Given the description of an element on the screen output the (x, y) to click on. 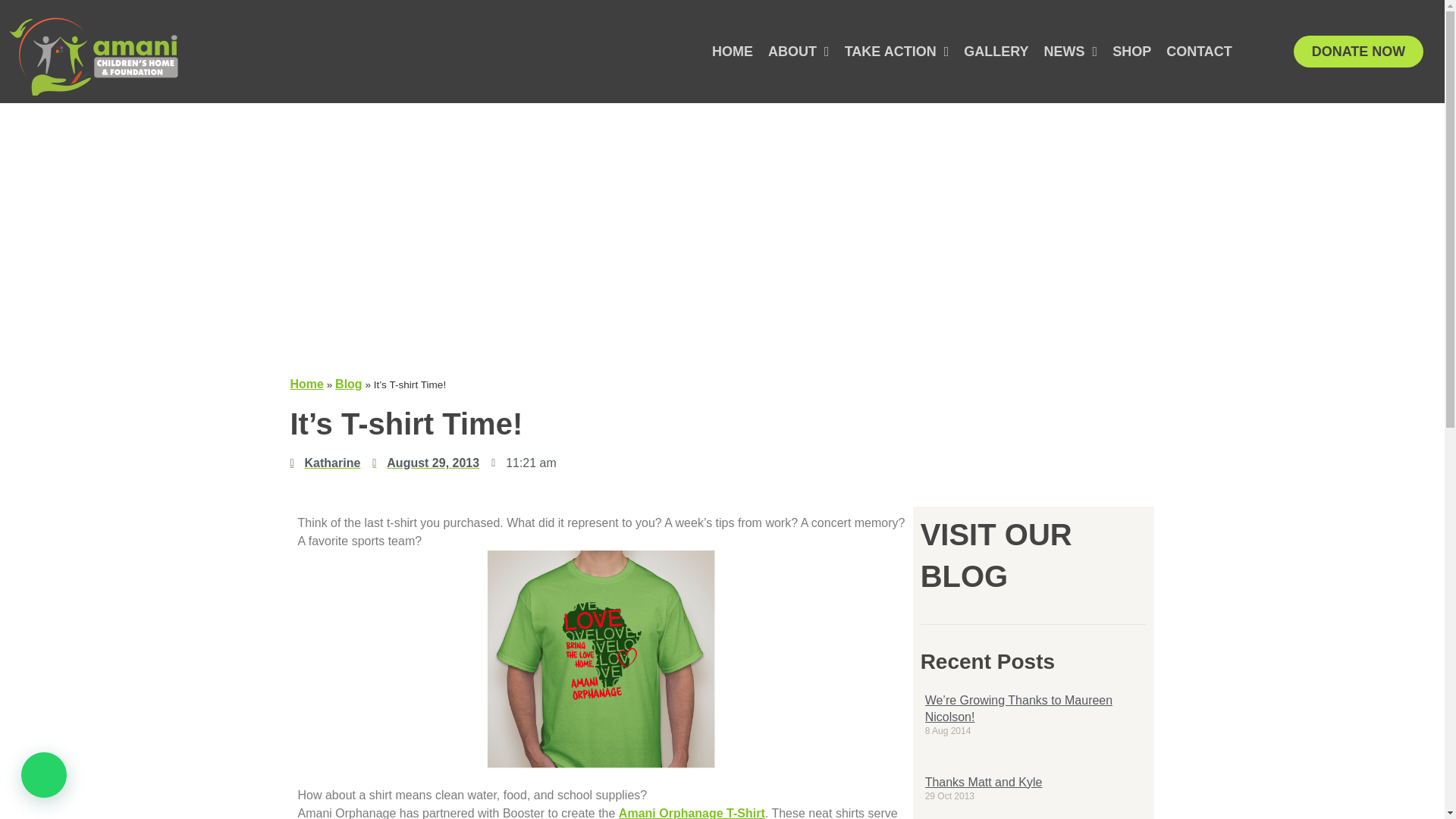
ABOUT (798, 51)
NEWS (1070, 51)
SHOP (1131, 51)
August 29, 2013 (425, 463)
HOME (732, 51)
GALLERY (995, 51)
Blog (348, 383)
TAKE ACTION (896, 51)
DONATE NOW (1358, 51)
Home (306, 383)
CONTACT (1199, 51)
Katharine (324, 463)
